Given the description of an element on the screen output the (x, y) to click on. 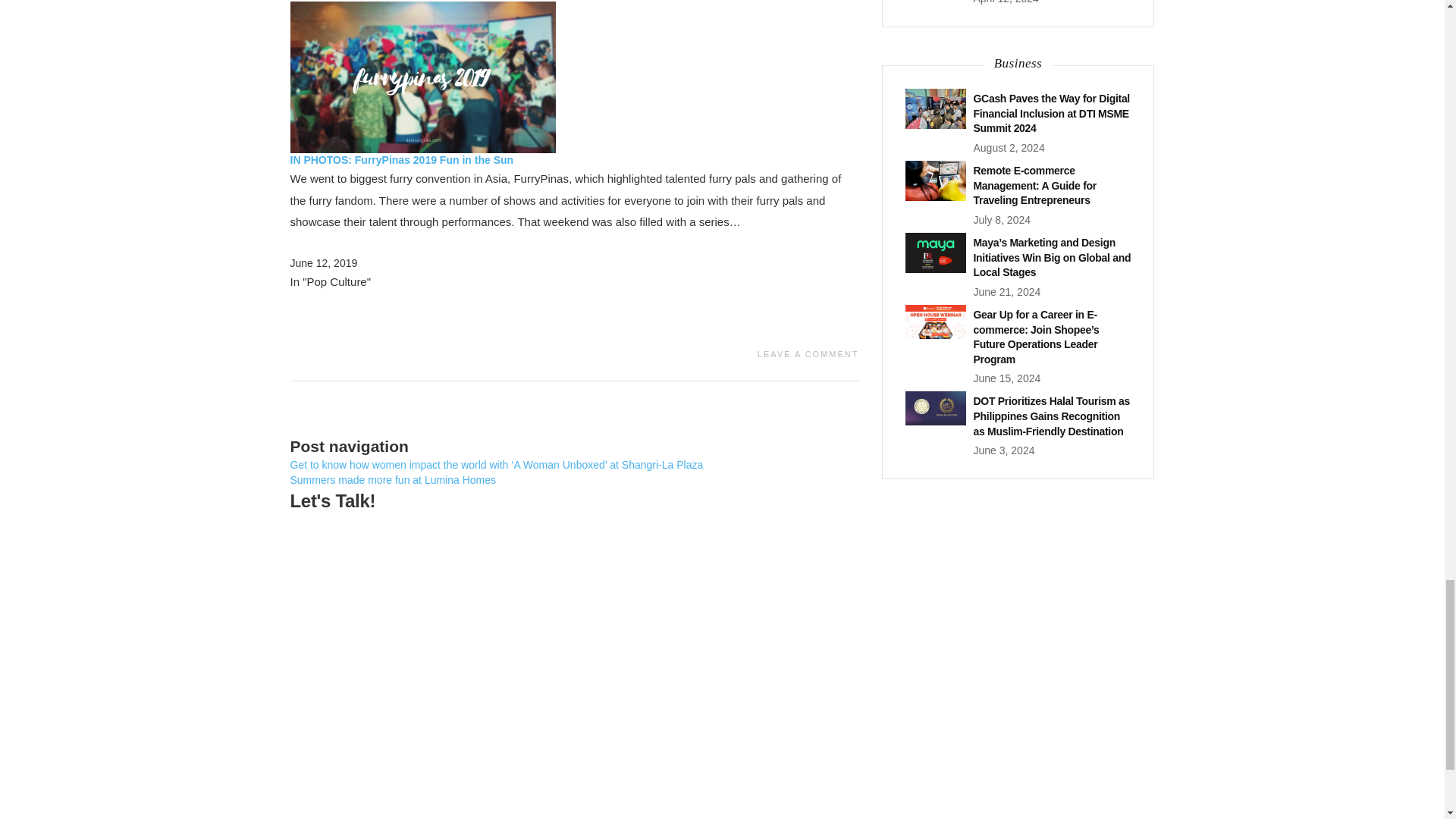
LEAVE A COMMENT (808, 353)
Summers made more fun at Lumina Homes (392, 480)
IN PHOTOS: FurryPinas 2019 Fun in the Sun (421, 76)
IN PHOTOS: FurryPinas 2019 Fun in the Sun (401, 159)
IN PHOTOS: FurryPinas 2019 Fun in the Sun (401, 159)
